Given the description of an element on the screen output the (x, y) to click on. 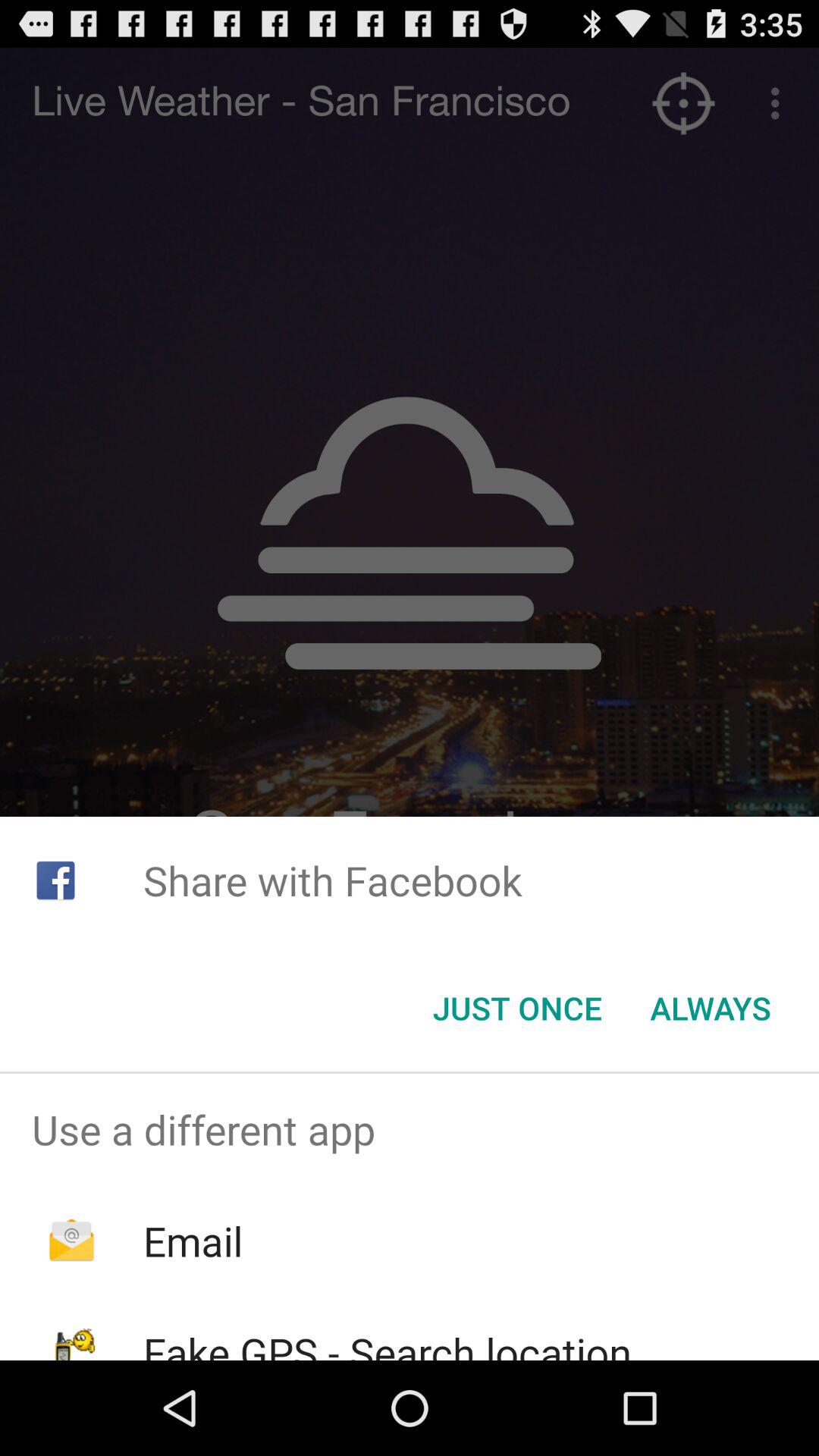
open use a different app (409, 1129)
